Given the description of an element on the screen output the (x, y) to click on. 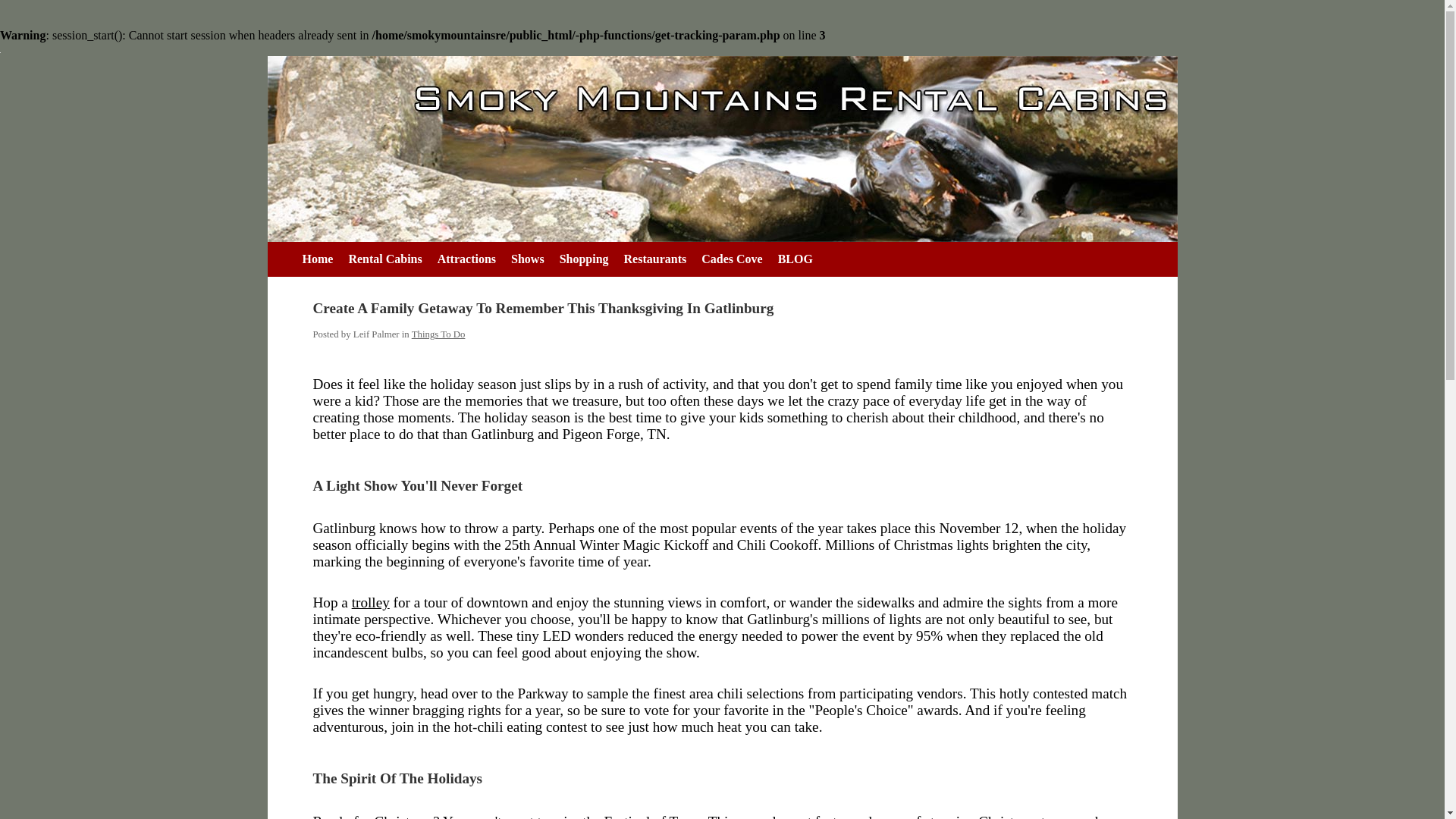
Shows (527, 258)
Shopping (583, 258)
Attractions (466, 258)
Things To Do (438, 334)
Cades Cove (732, 258)
Rental Cabins (384, 258)
Home (317, 258)
trolley (371, 602)
Restaurants (654, 258)
